Given the description of an element on the screen output the (x, y) to click on. 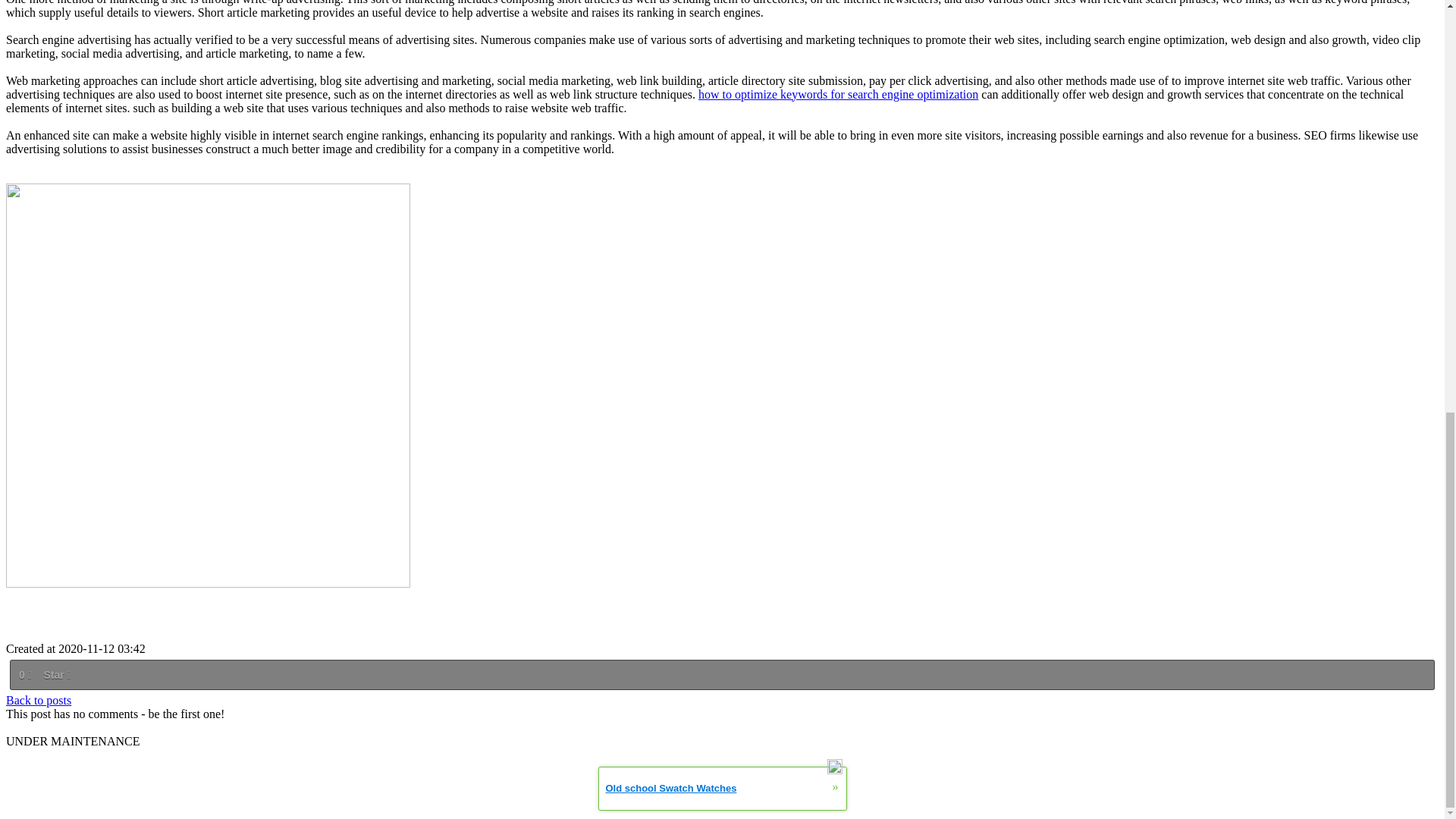
Star (56, 673)
how to optimize keywords for search engine optimization (838, 93)
Back to posts (38, 698)
0 (24, 673)
